Given the description of an element on the screen output the (x, y) to click on. 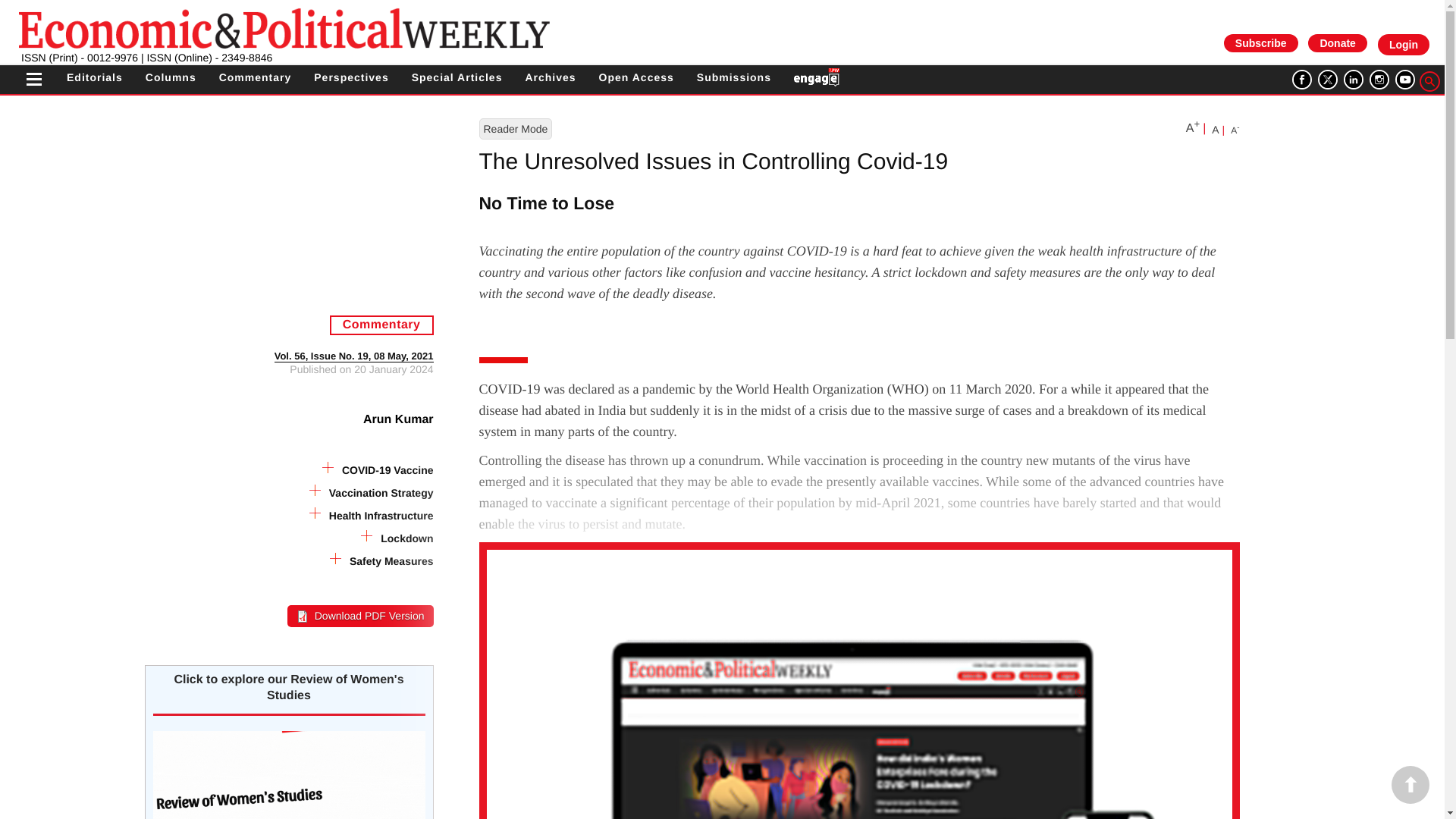
Columns (170, 77)
Commentary (255, 77)
Perspectives (351, 77)
Subscribe (1260, 42)
Submissions (734, 77)
subscribe (1260, 42)
Home (284, 27)
Login (1403, 44)
Donate (1337, 42)
Archives (549, 77)
